Given the description of an element on the screen output the (x, y) to click on. 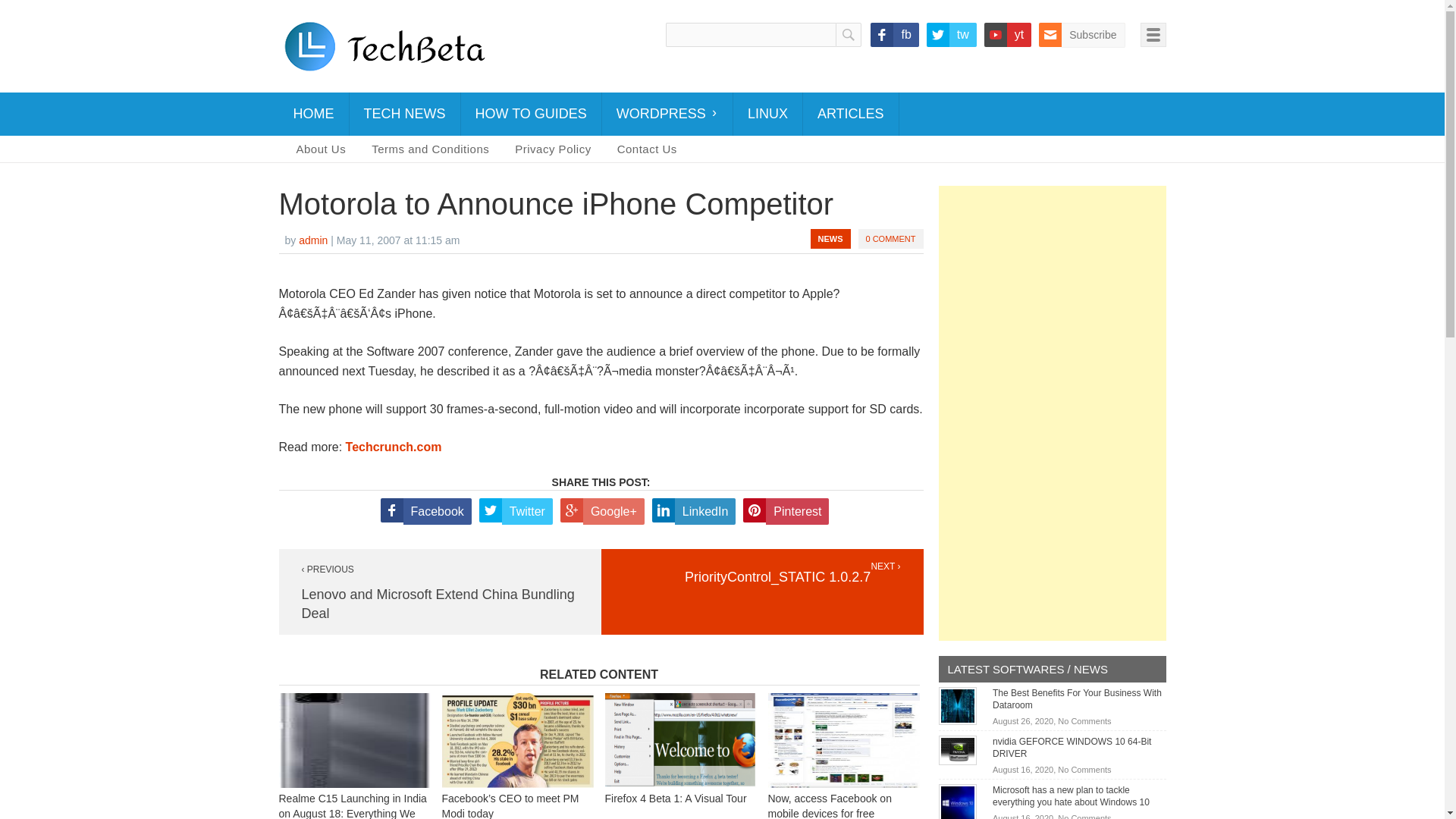
WORDPRESS (667, 113)
HOW TO GUIDES (531, 113)
fb (894, 34)
The Best Benefits For Your Business With Dataroom (1076, 698)
tw (951, 34)
nvidia GEFORCE WINDOWS 10 64-Bit DRIVER (1071, 747)
yt (1007, 34)
Open Menu (1153, 34)
View all posts by admin (312, 240)
